Given the description of an element on the screen output the (x, y) to click on. 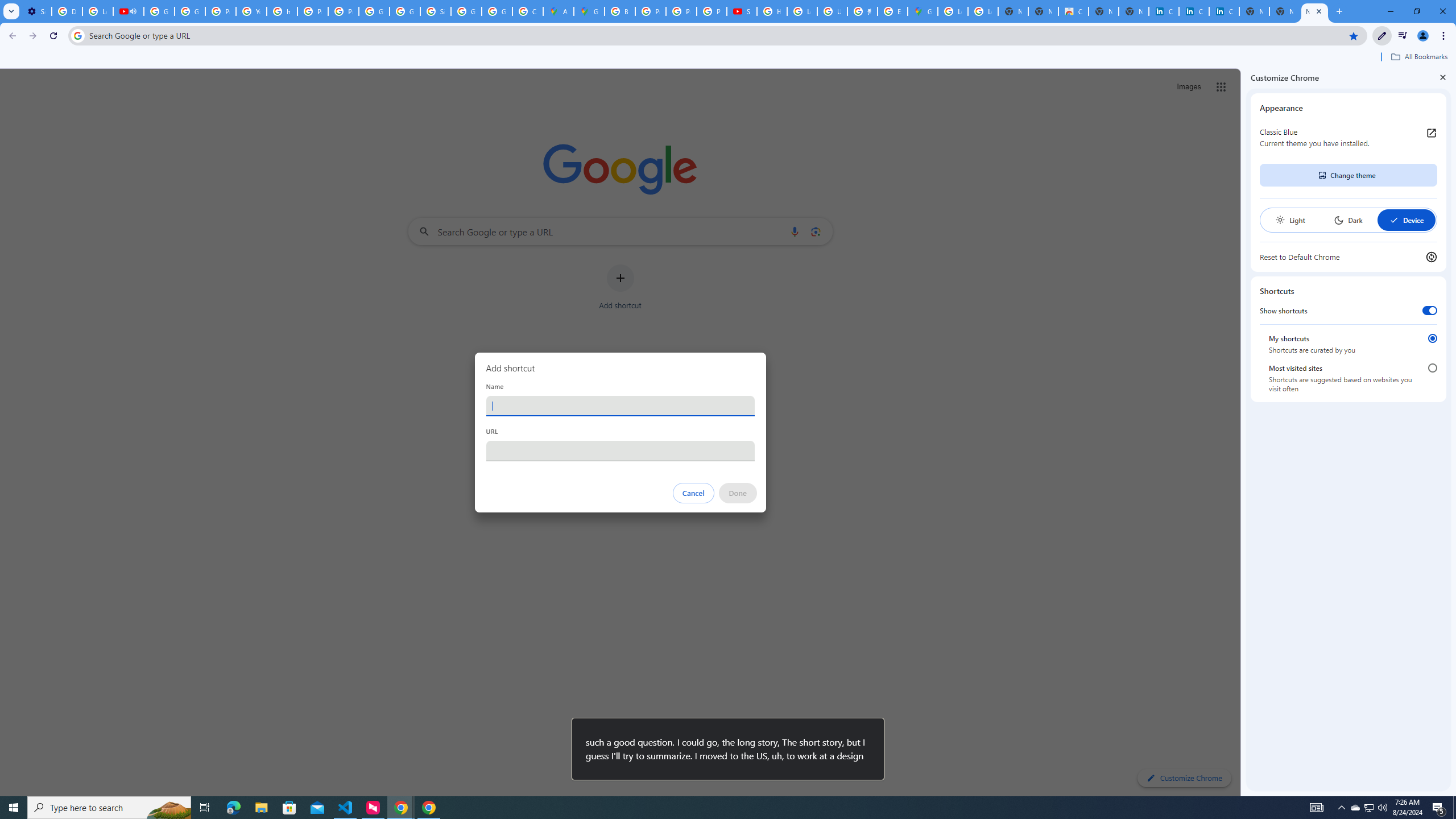
Name (620, 405)
Privacy Help Center - Policies Help (312, 11)
Privacy Help Center - Policies Help (650, 11)
YouTube (251, 11)
Google Maps (589, 11)
Explore new street-level details - Google Maps Help (892, 11)
Google Maps (922, 11)
